Given the description of an element on the screen output the (x, y) to click on. 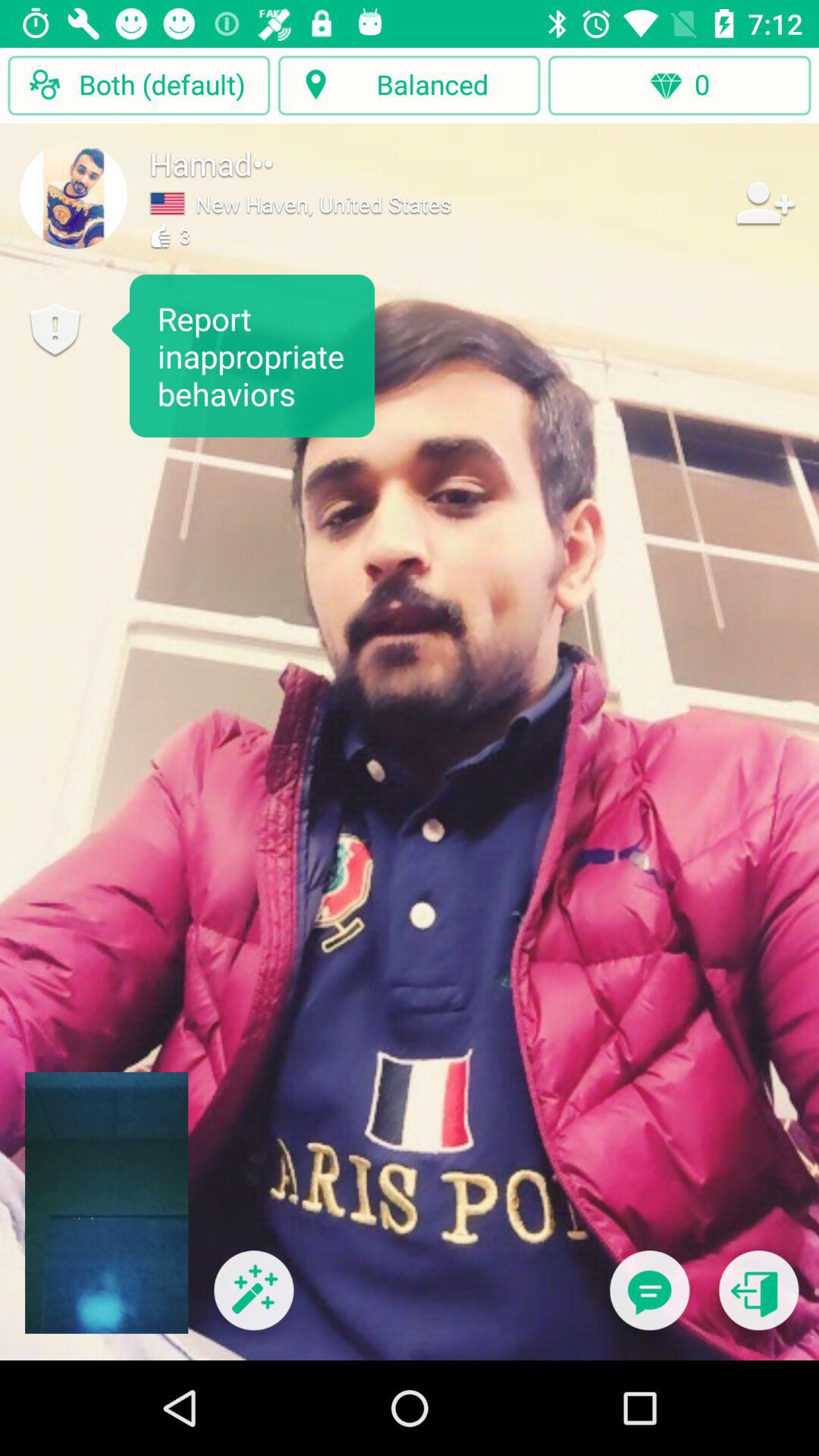
tap item below 0 item (649, 1300)
